Given the description of an element on the screen output the (x, y) to click on. 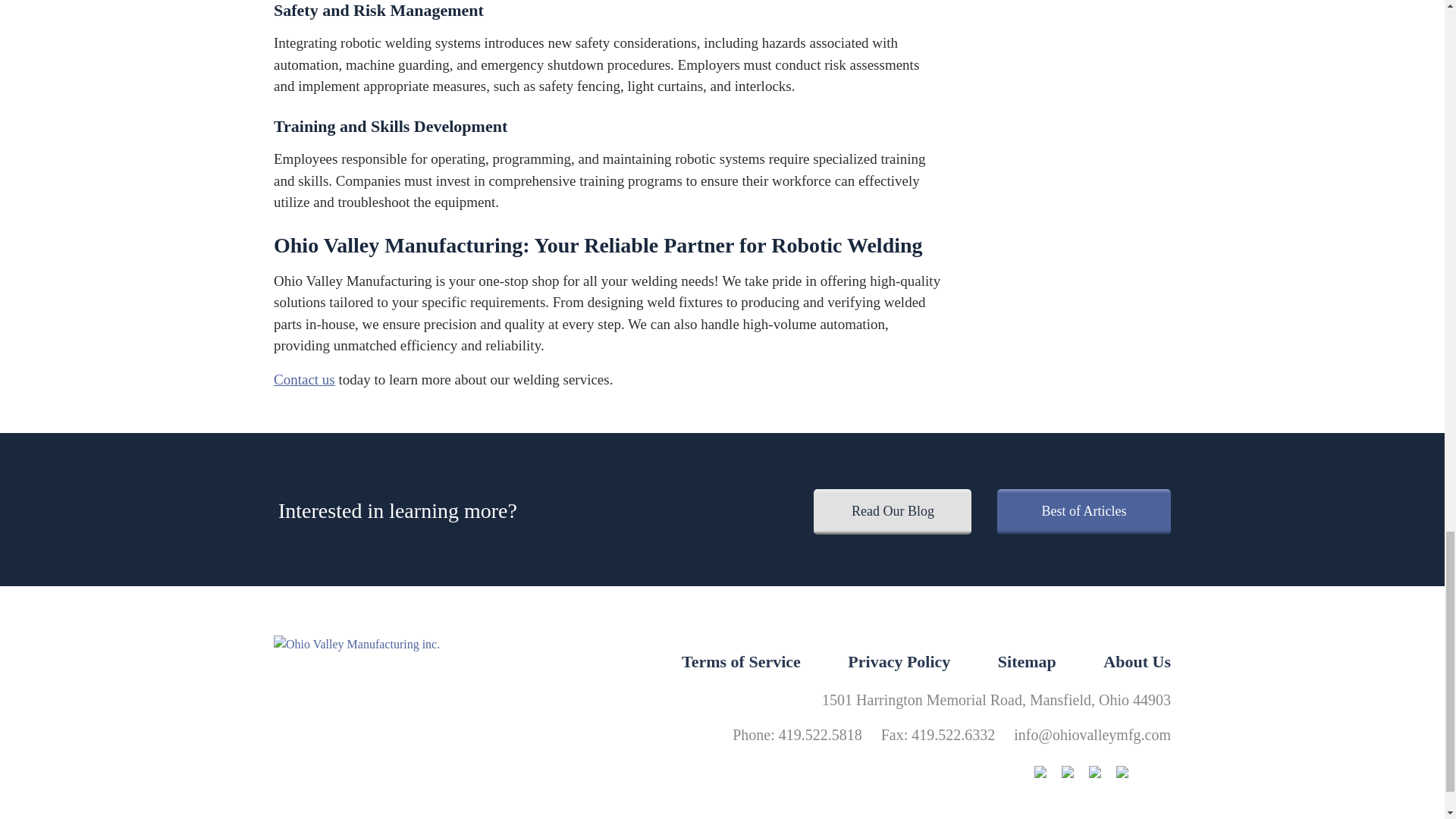
Instagram (1047, 773)
Facebook (1075, 773)
YouTube (1129, 773)
LinkedIn (1102, 773)
